Given the description of an element on the screen output the (x, y) to click on. 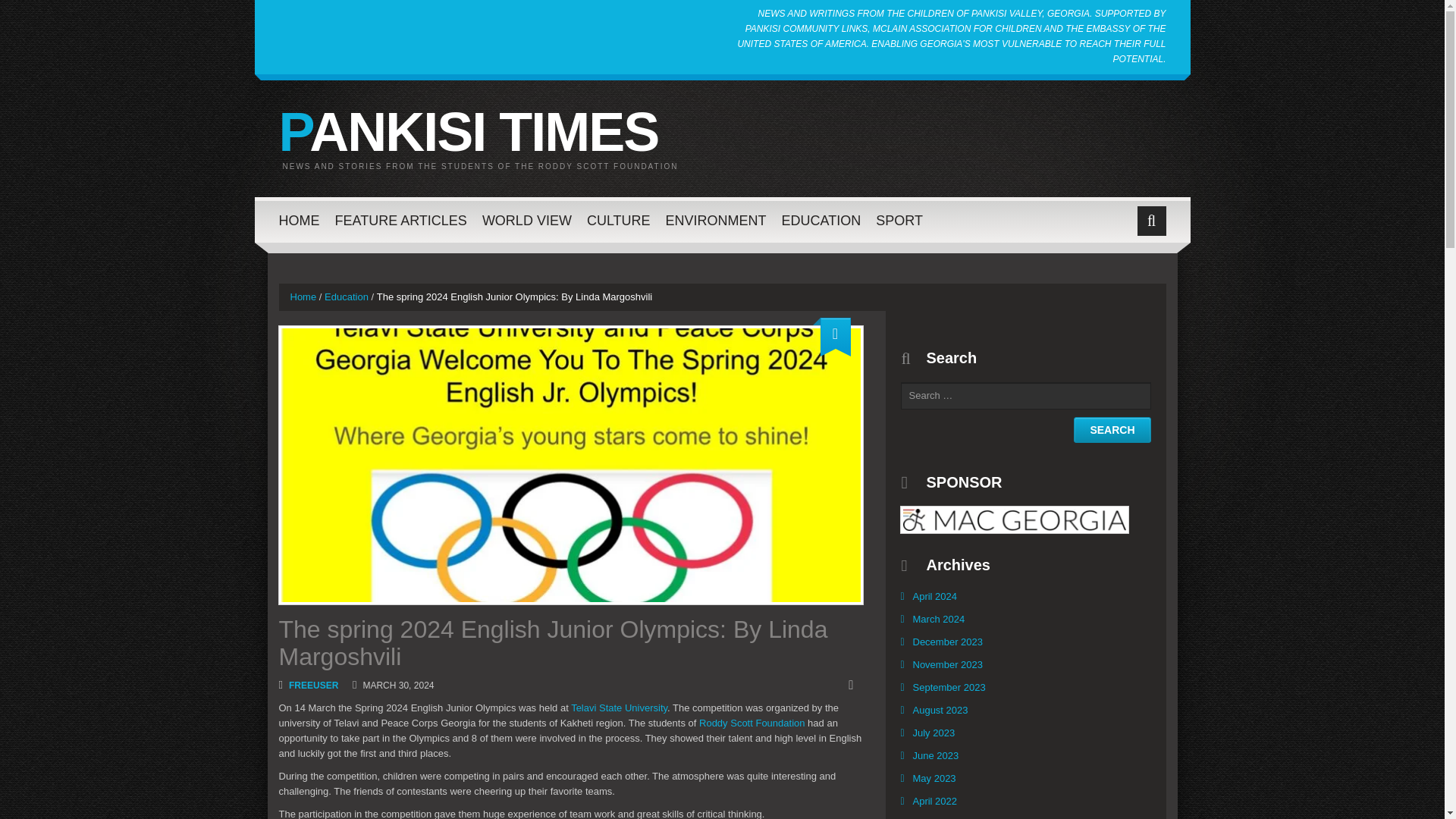
June 2023 (935, 755)
December 2023 (947, 642)
CULTURE (618, 219)
FEATURE ARTICLES (400, 219)
HOME (299, 219)
Posts by FreeUser (312, 685)
March 2024 (938, 619)
Search (1112, 429)
Education (346, 296)
FREEUSER (312, 685)
